Given the description of an element on the screen output the (x, y) to click on. 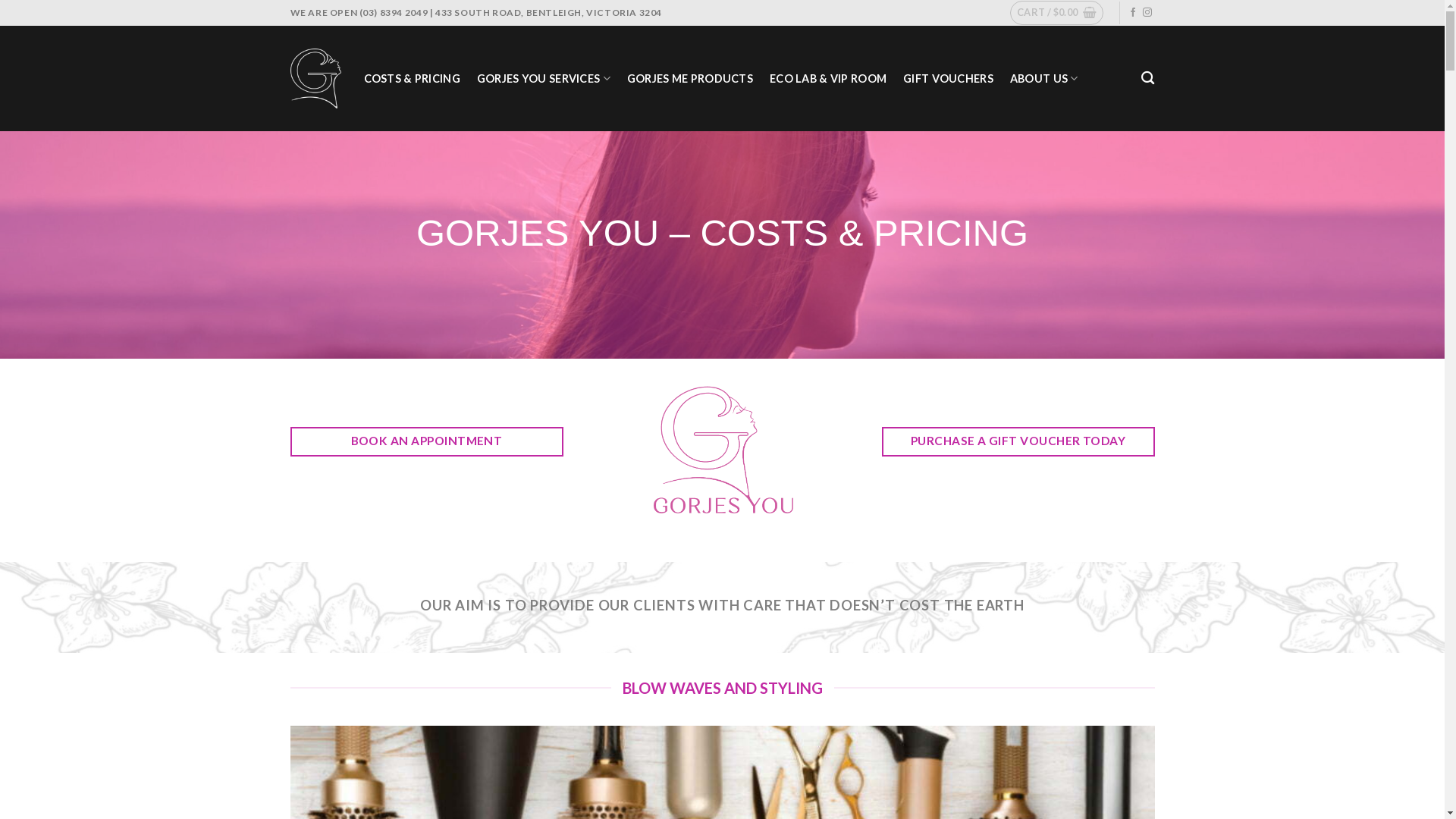
Gorjes You - Hairdressing Salon Element type: hover (314, 77)
BOOK AN APPOINTMENT Element type: text (425, 441)
GIFT VOUCHERS Element type: text (948, 78)
Follow on Instagram Element type: hover (1146, 12)
ECO LAB & VIP ROOM Element type: text (827, 78)
ABOUT US Element type: text (1044, 78)
CART / $0.00 Element type: text (1056, 12)
Follow on Facebook Element type: hover (1132, 12)
GORJES YOU SERVICES Element type: text (543, 78)
PURCHASE A GIFT VOUCHER TODAY Element type: text (1017, 441)
COSTS & PRICING Element type: text (412, 78)
GORJES ME PRODUCTS Element type: text (690, 78)
